Given the description of an element on the screen output the (x, y) to click on. 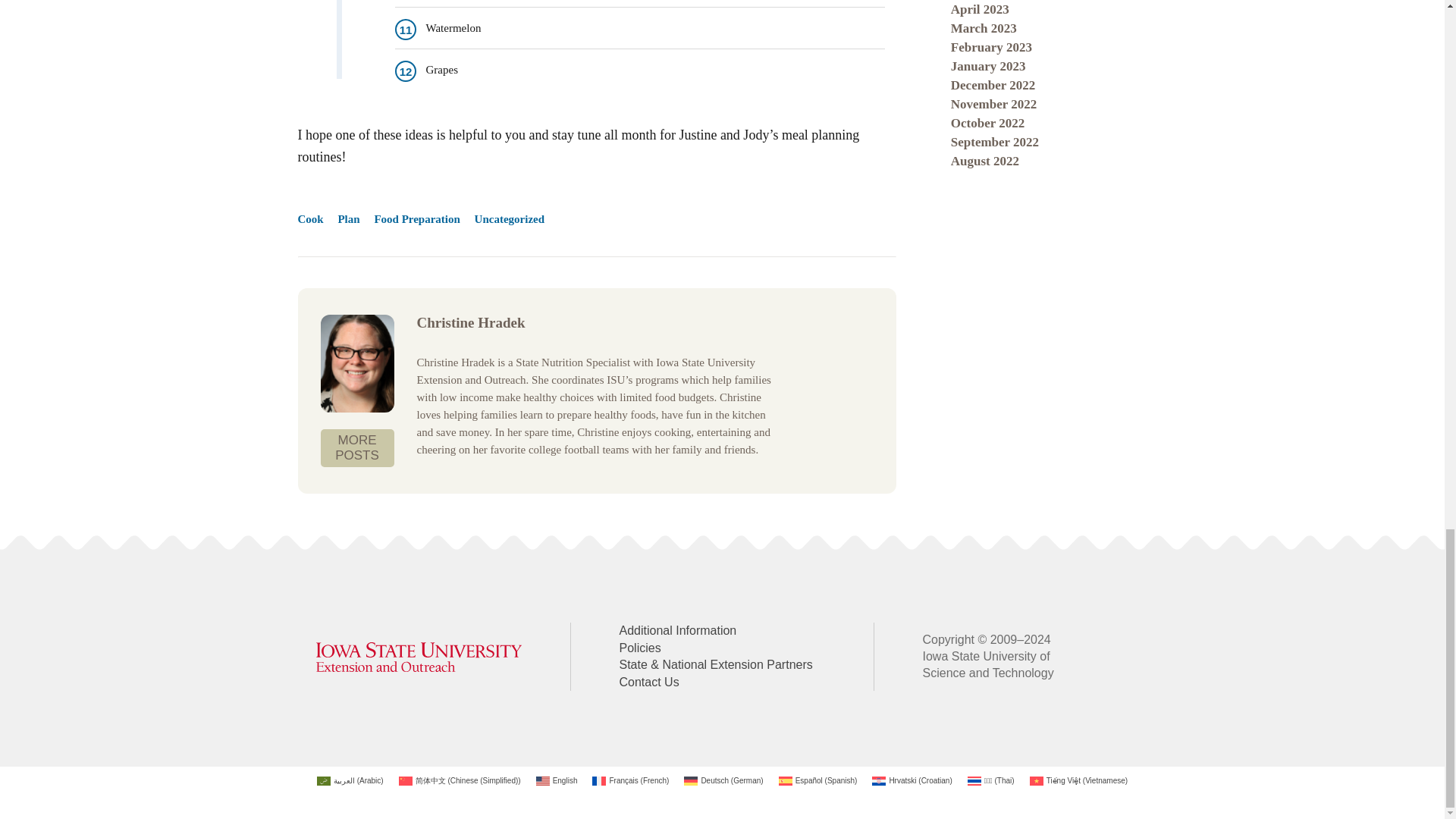
Visit Iowa State University Extension and Outreach (418, 656)
